Given the description of an element on the screen output the (x, y) to click on. 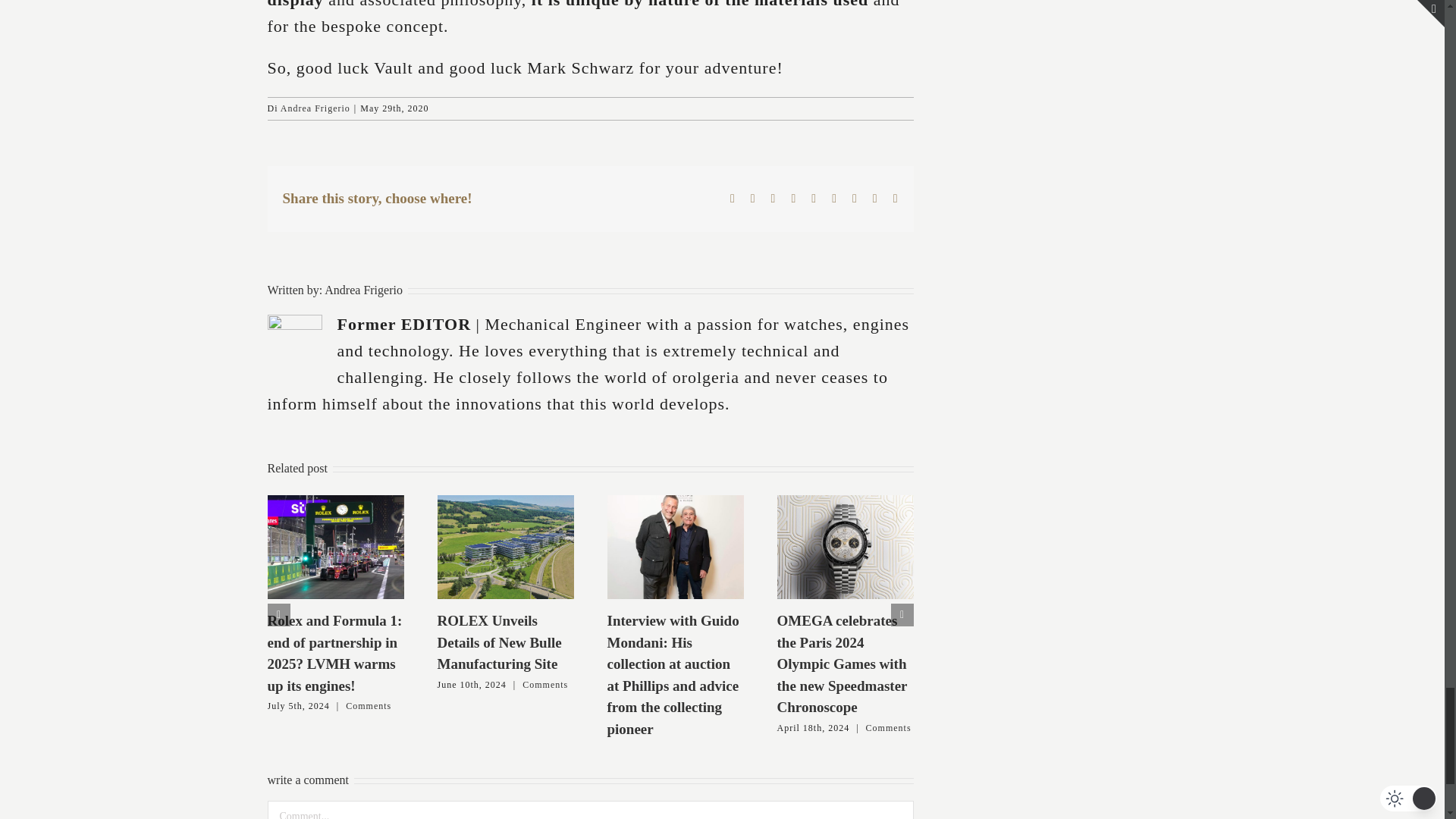
Articles written by Andrea Frigerio (315, 108)
Articles written by Andrea Frigerio (363, 289)
